Given the description of an element on the screen output the (x, y) to click on. 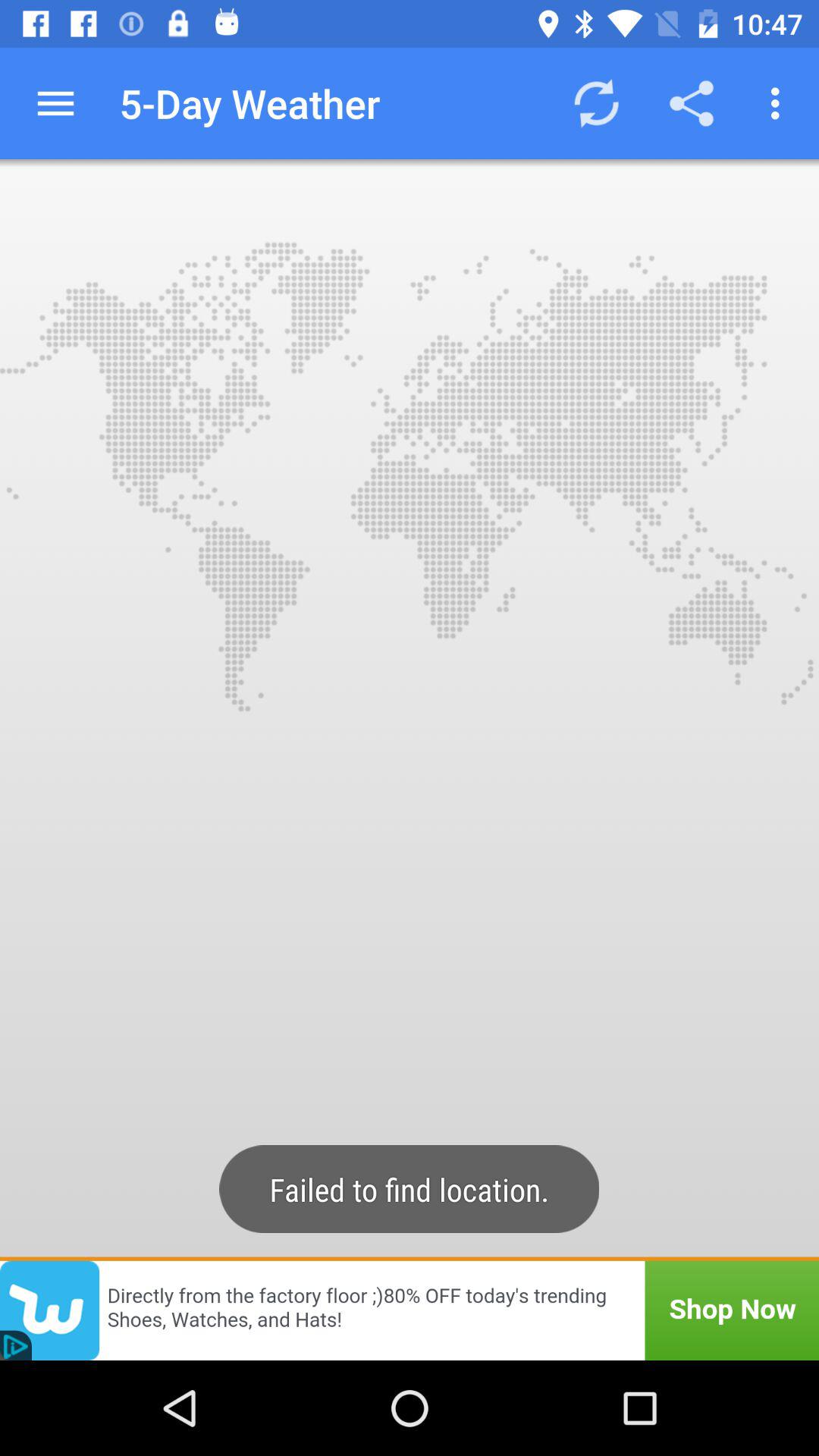
tap icon next to the 5-day weather icon (55, 103)
